Given the description of an element on the screen output the (x, y) to click on. 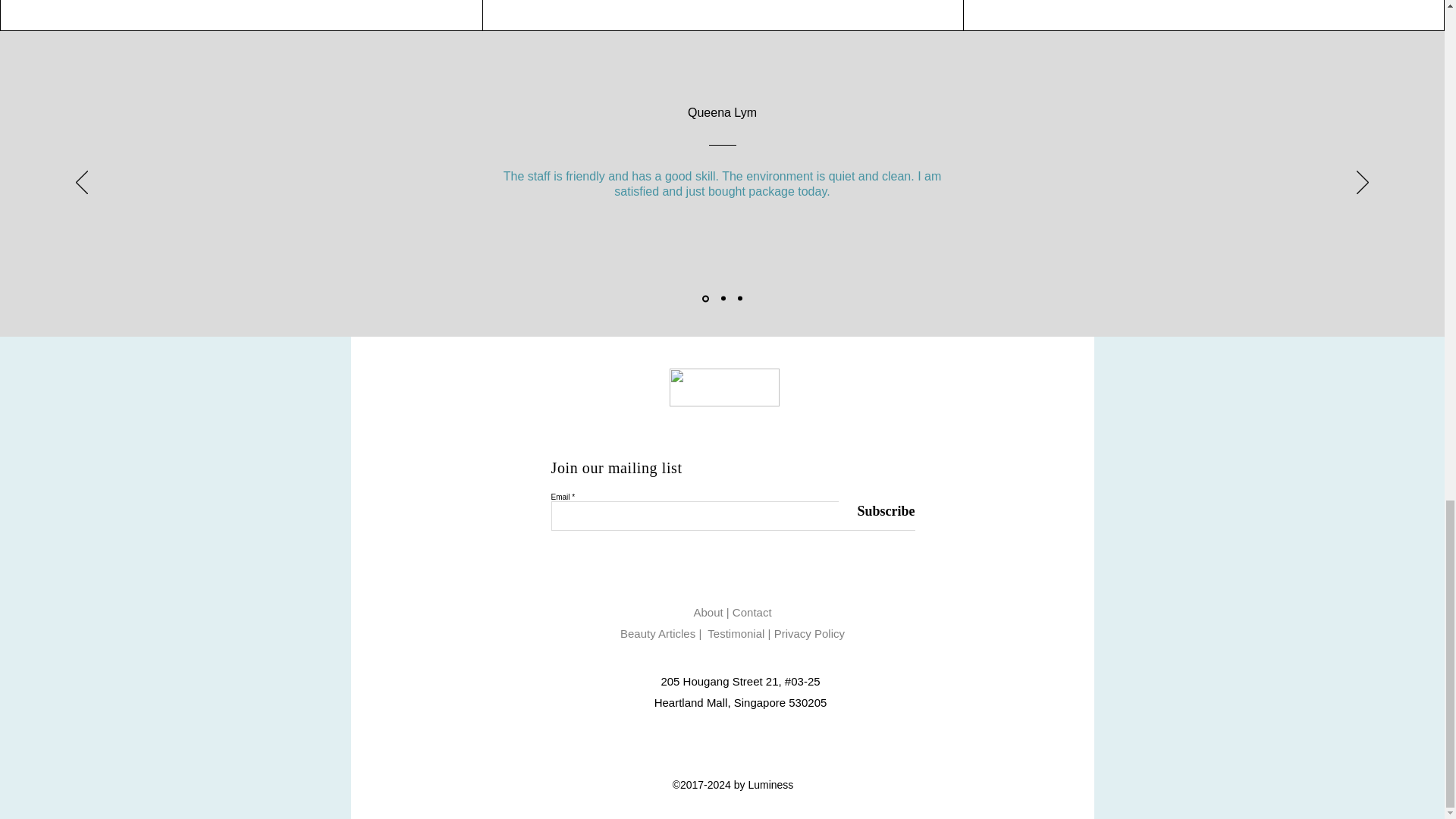
Subscribe (876, 511)
Privacy Policy (809, 633)
Beauty Articles (659, 633)
